Given the description of an element on the screen output the (x, y) to click on. 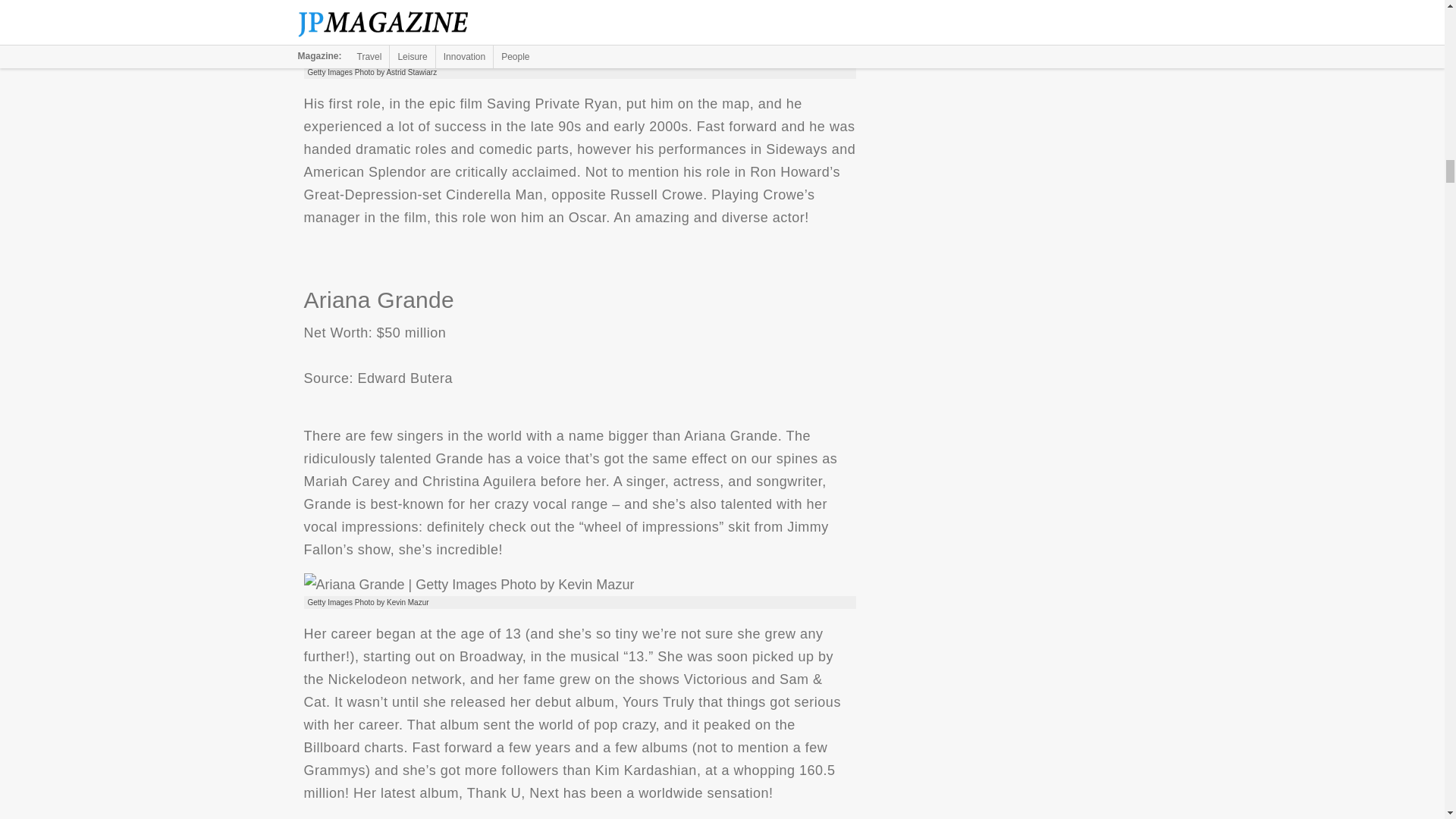
Ariana Grande (467, 584)
Paul Giamatti (472, 54)
